Given the description of an element on the screen output the (x, y) to click on. 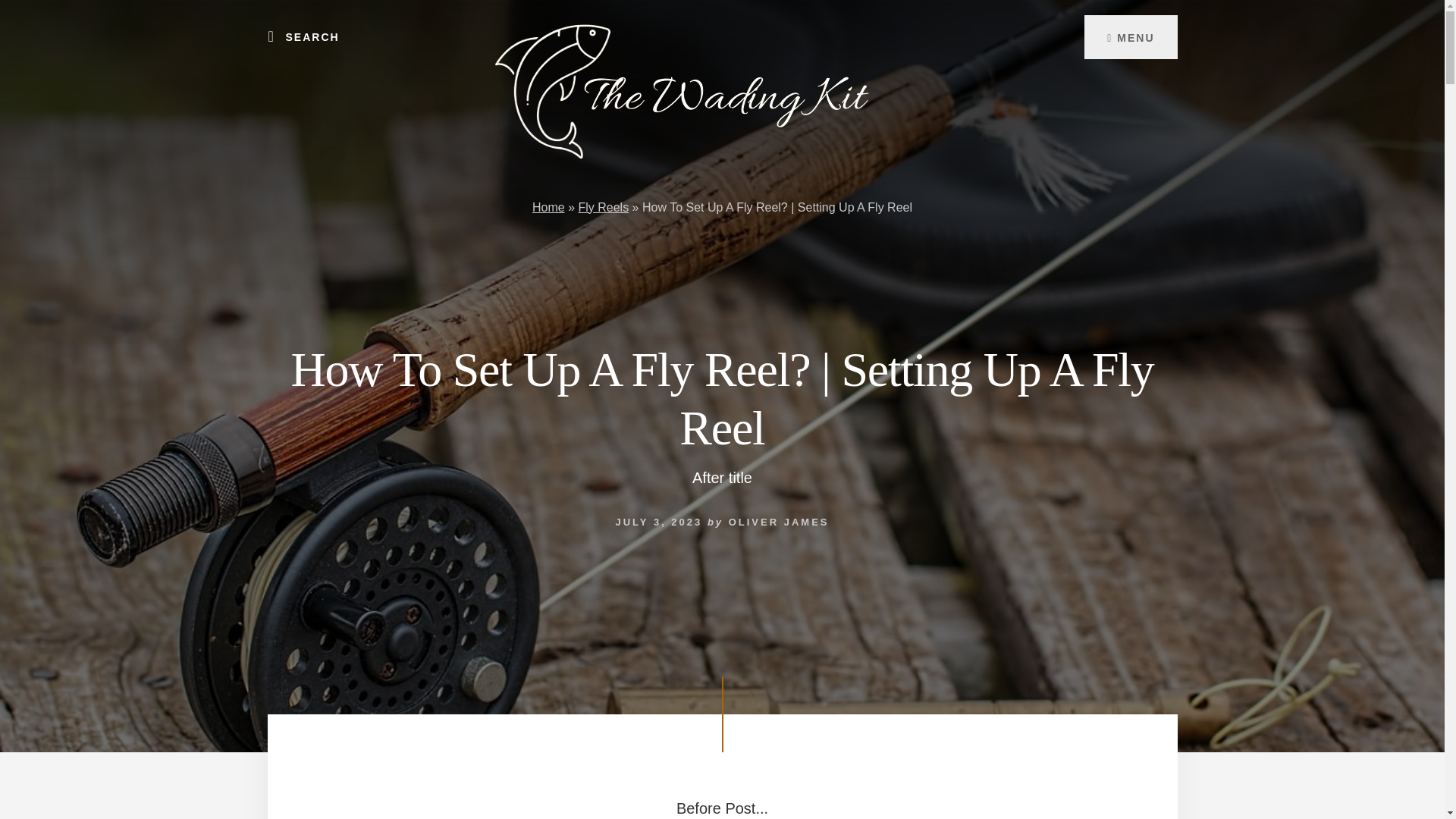
Home (548, 205)
Fly Reels (603, 205)
MENU (1130, 36)
